Given the description of an element on the screen output the (x, y) to click on. 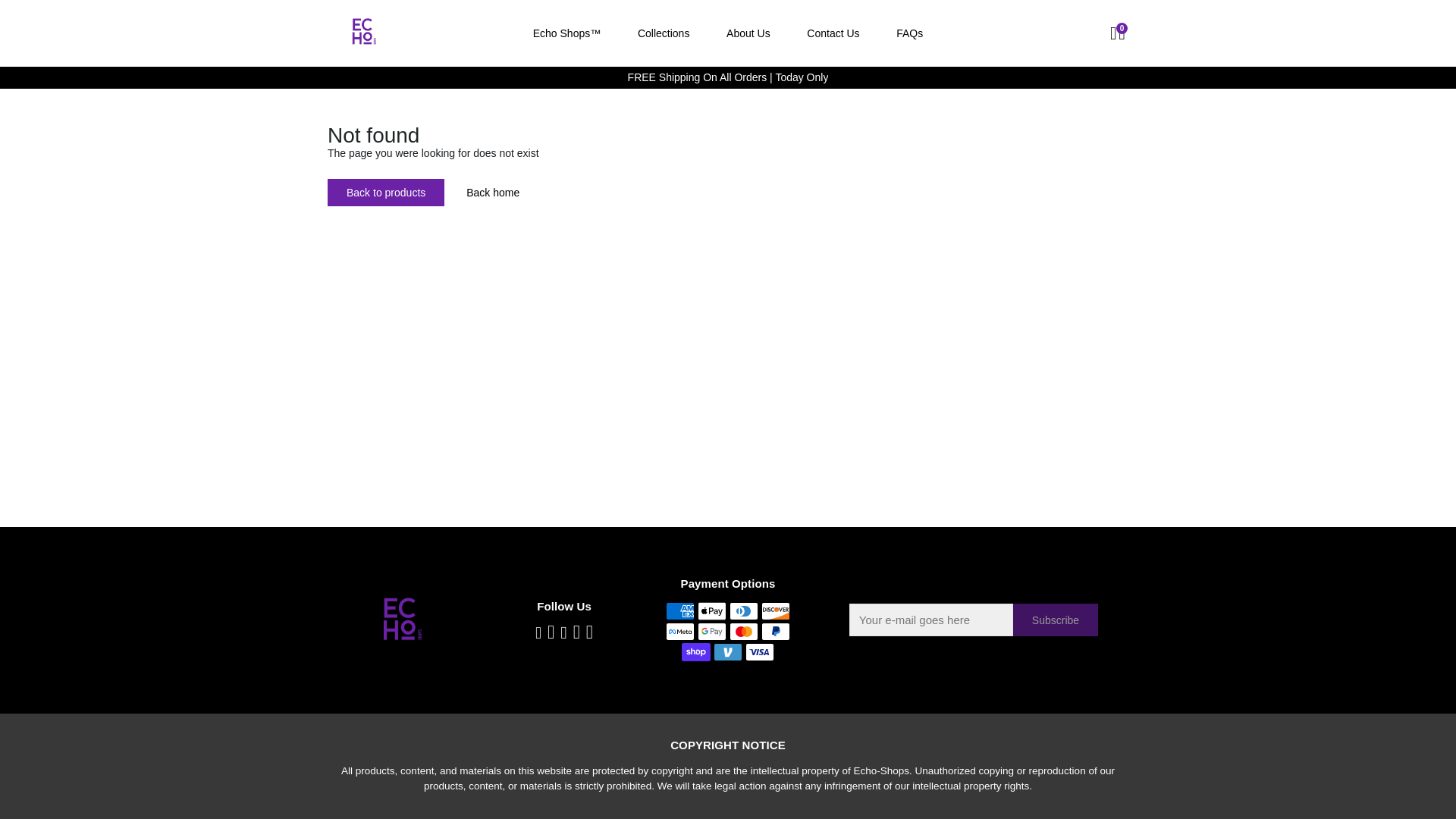
Mastercard (743, 631)
Collections (663, 32)
FAQs (908, 32)
Discover (775, 610)
Diners Club (743, 610)
About Us (748, 32)
American Express (679, 610)
Visa (759, 651)
Venmo (727, 651)
Apple Pay (711, 610)
Shop Pay (695, 651)
PayPal (775, 631)
Contact Us (833, 32)
Google Pay (711, 631)
Meta Pay (679, 631)
